Given the description of an element on the screen output the (x, y) to click on. 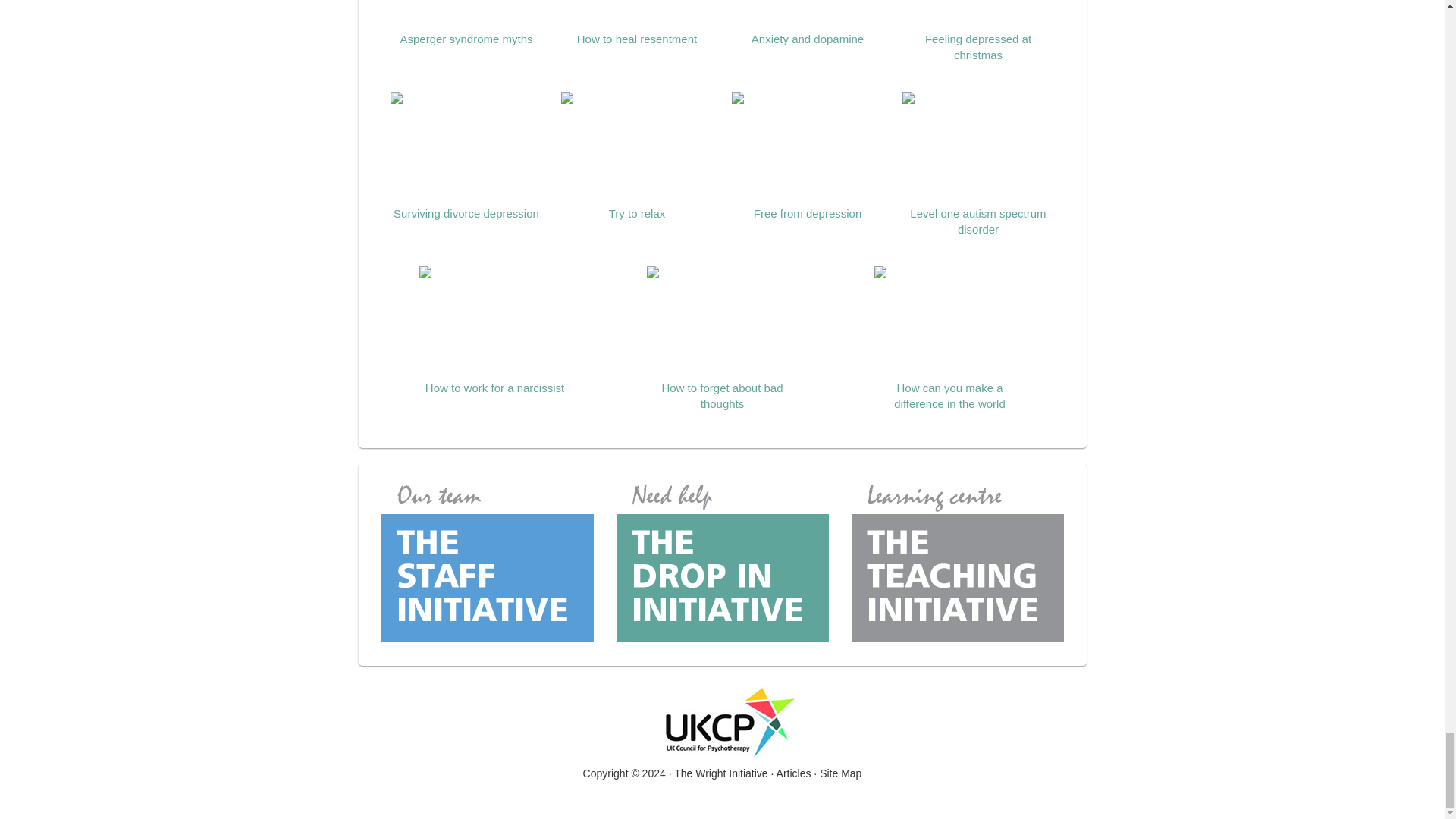
Try to relax (636, 155)
How to forget about bad thoughts (721, 338)
Anxiety and dopamine (807, 22)
Free from depression (807, 155)
Try to relax (636, 155)
How to work for a narcissist (494, 329)
Asperger syndrome myths (465, 22)
Surviving divorce depression (465, 155)
Asperger syndrome myths (465, 22)
How to forget about bad thoughts (721, 338)
